Given the description of an element on the screen output the (x, y) to click on. 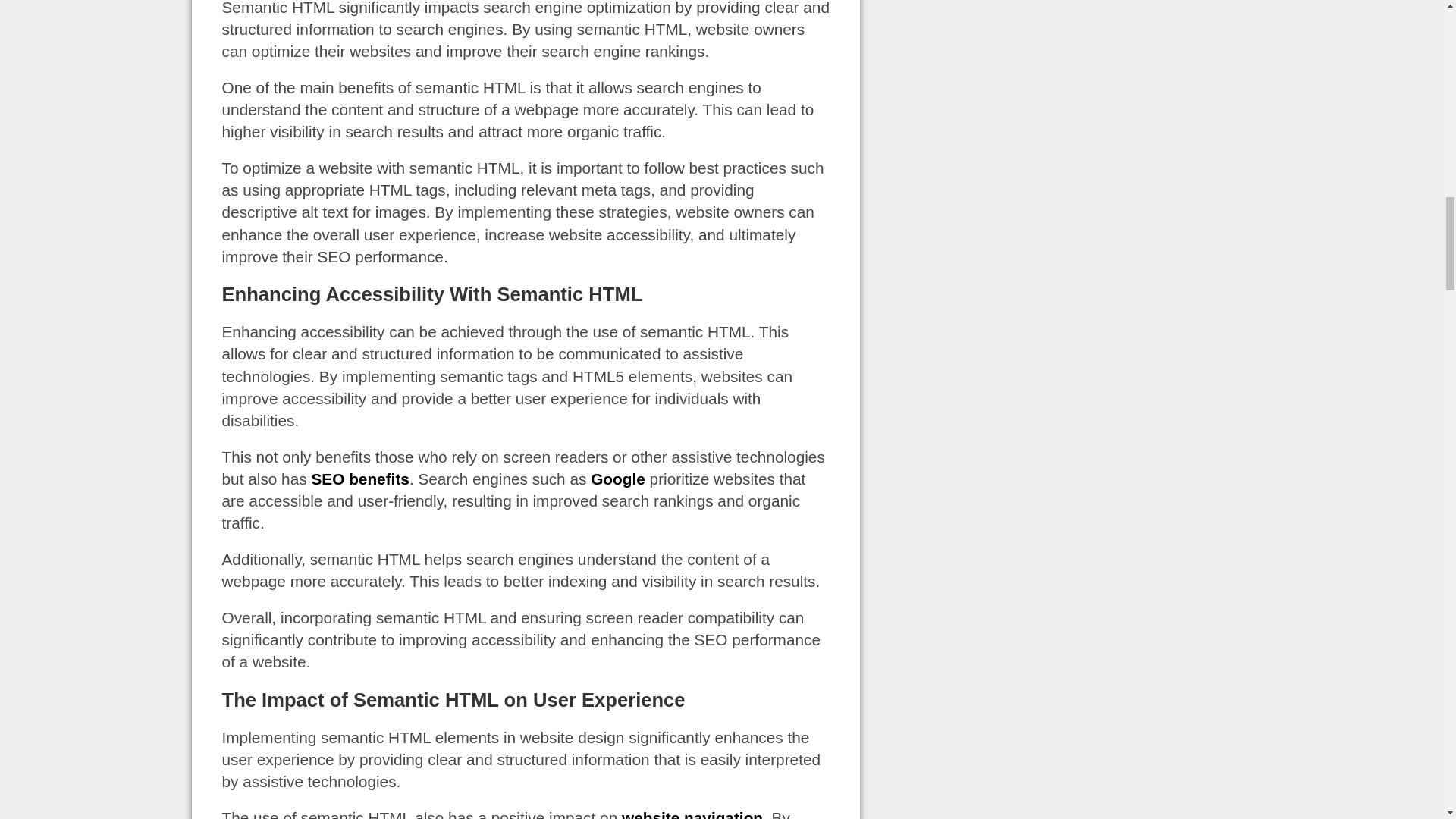
How Important Are Breadcrumbs For Websites (691, 814)
Choosing the Right Tool: Deciding Between ChatGPT and Google (618, 478)
